Given the description of an element on the screen output the (x, y) to click on. 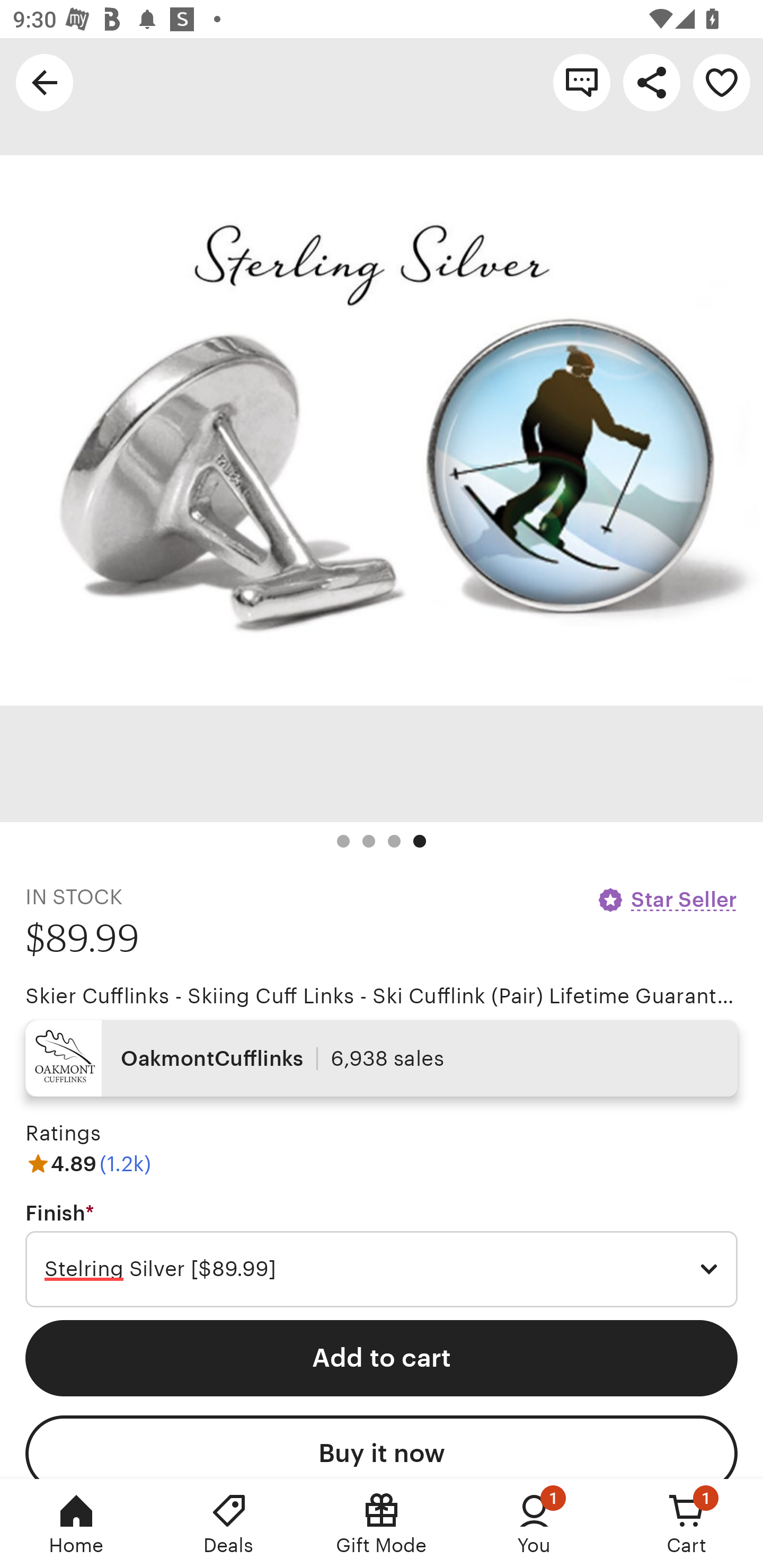
Navigate up (44, 81)
Contact shop (581, 81)
Share (651, 81)
Star Seller (666, 899)
OakmontCufflinks 6,938 sales (381, 1058)
Ratings (62, 1133)
4.89 (1.2k) (88, 1163)
Finish * Required Stelring Silver [$89.99] (381, 1254)
Stelring Silver [$89.99] (381, 1268)
Add to cart (381, 1358)
Buy it now (381, 1446)
Deals (228, 1523)
Gift Mode (381, 1523)
You, 1 new notification You (533, 1523)
Cart, 1 new notification Cart (686, 1523)
